Given the description of an element on the screen output the (x, y) to click on. 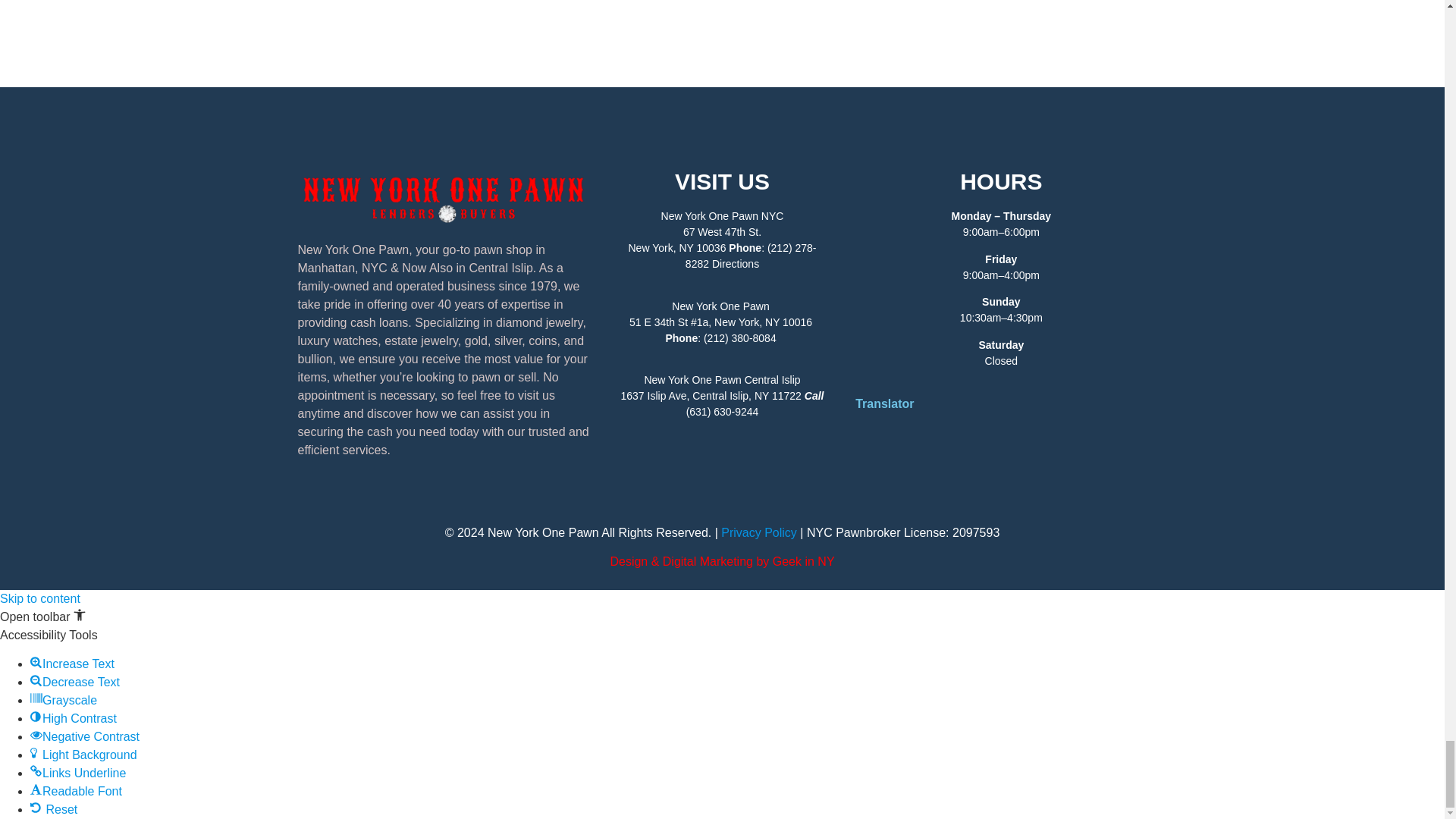
Light Background (36, 752)
Readable Font (36, 788)
Increase Text (36, 662)
Accessibility Tools (79, 614)
Grayscale (36, 698)
Negative Contrast (36, 734)
Accessibility Tools (42, 616)
Links Underline (36, 770)
High Contrast (36, 716)
Decrease Text (36, 680)
